Given the description of an element on the screen output the (x, y) to click on. 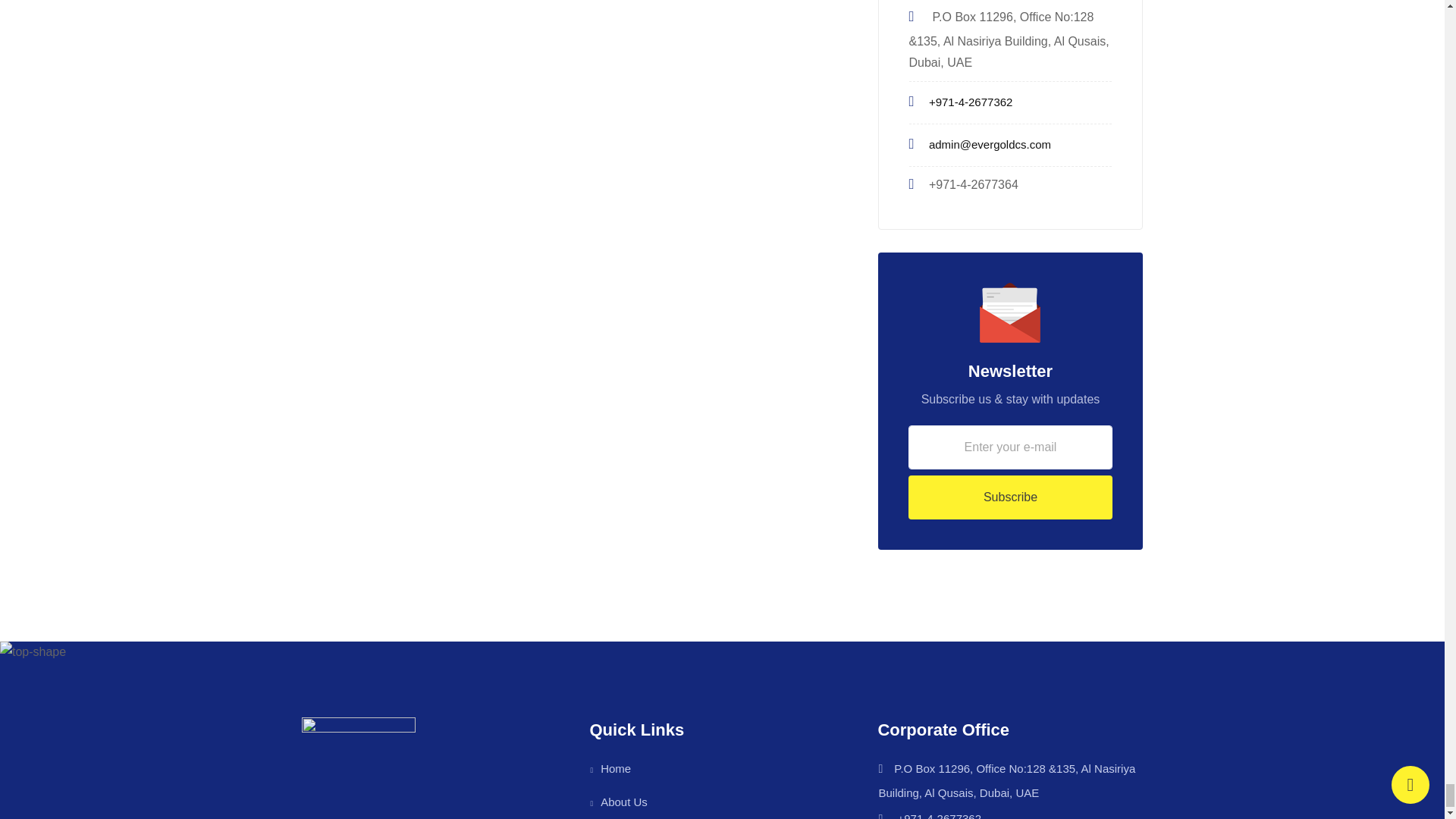
Subscribe (1010, 497)
